Given the description of an element on the screen output the (x, y) to click on. 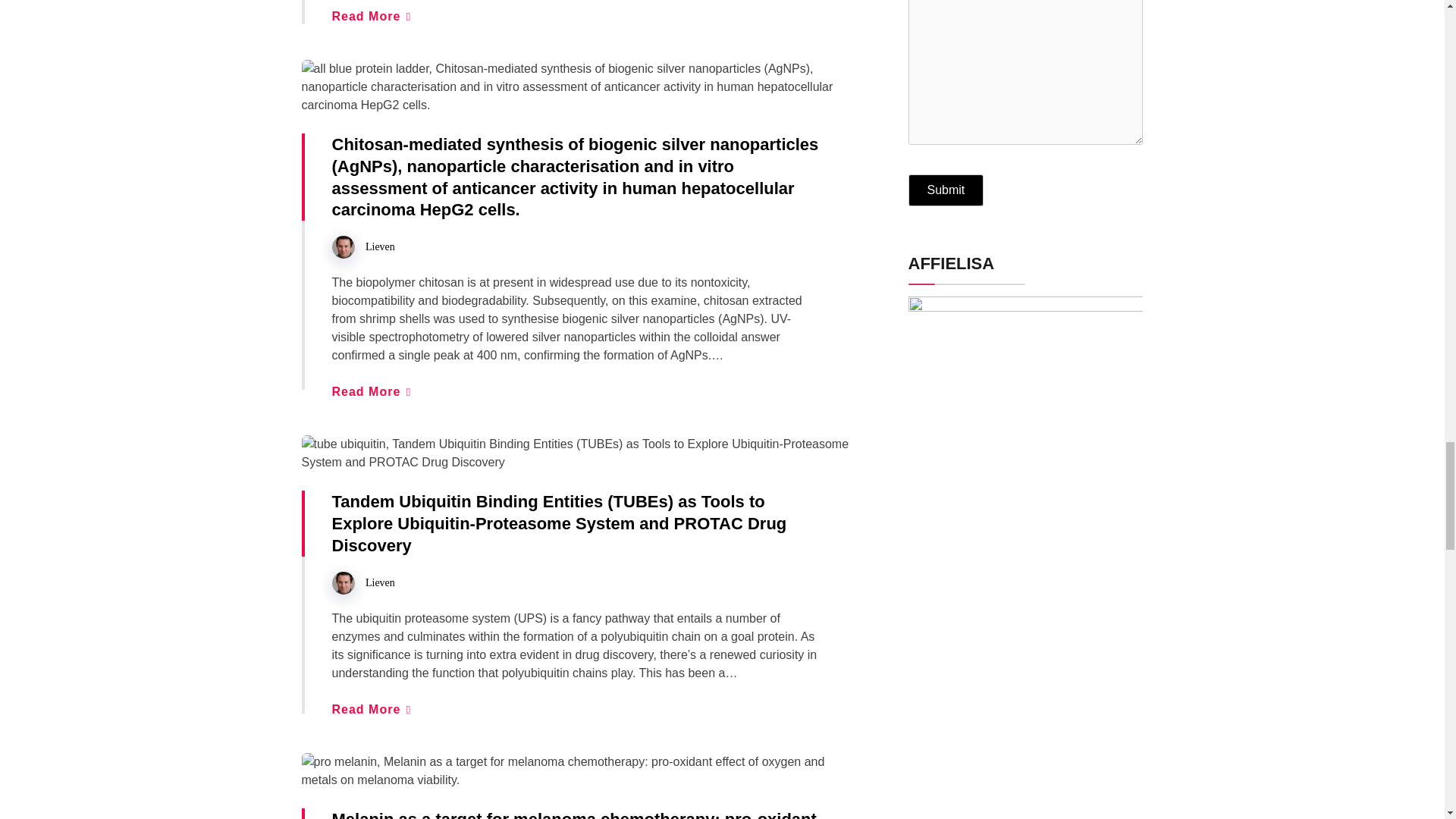
Read More (370, 391)
Read More (370, 707)
Read More (370, 15)
Lieven (379, 246)
Submit (946, 190)
Lieven (379, 582)
